Given the description of an element on the screen output the (x, y) to click on. 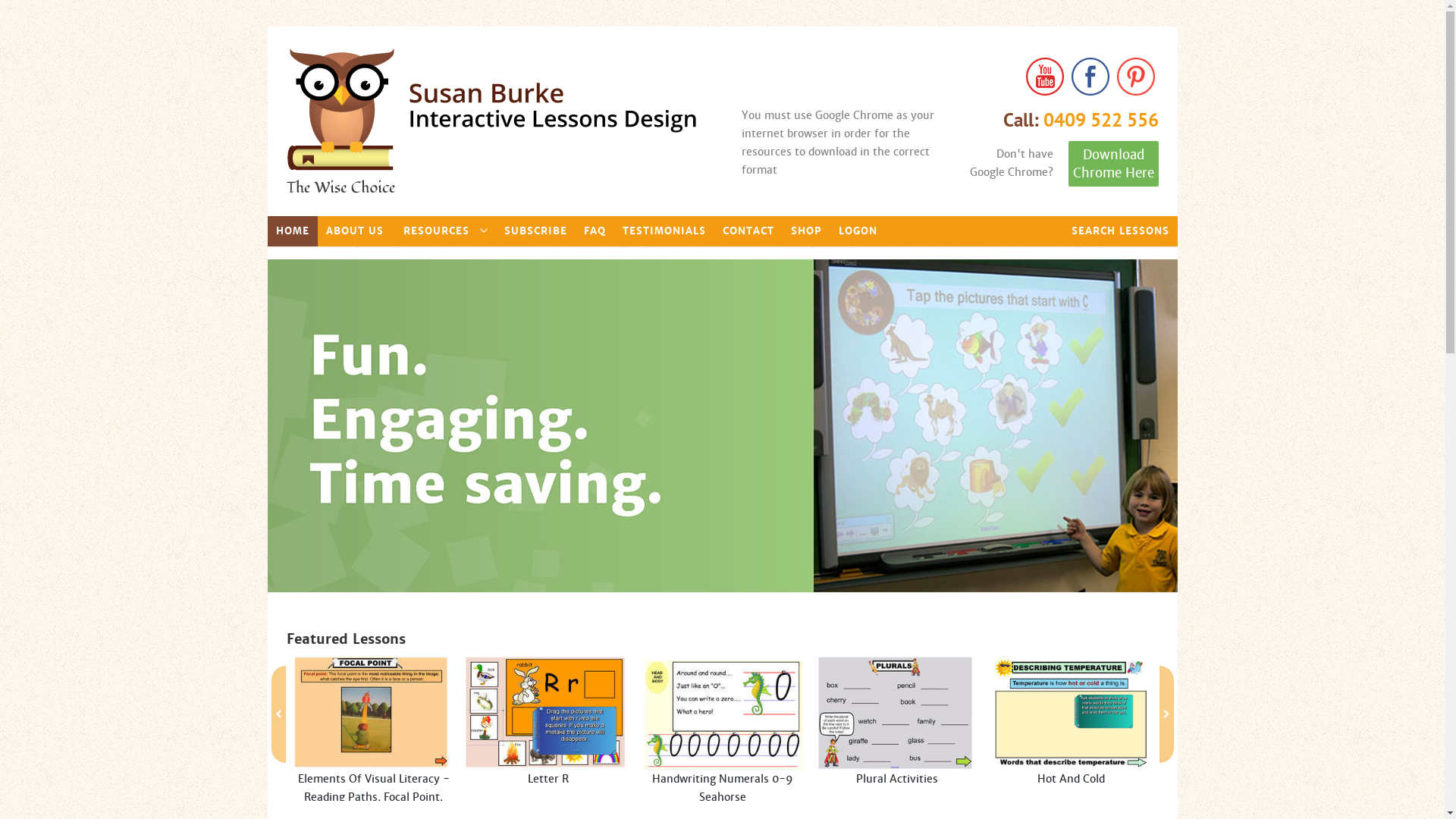
RESOURCES Element type: text (443, 231)
SUBSCRIBE Element type: text (535, 231)
Length - Cm And Mm Element type: text (548, 746)
Introduction To Visual Literacy Element type: text (373, 746)
Download
Chrome Here Element type: text (1112, 163)
Alphabetical Order Element type: text (199, 746)
HOME Element type: text (291, 231)
LOGON Element type: text (856, 231)
Spelling Rule - Ff, Ll And Ss Element type: text (1071, 746)
FAQ Element type: text (593, 231)
SEARCH LESSONS Element type: text (1120, 231)
TESTIMONIALS Element type: text (664, 231)
Spelling Rule - -ch Or -tch Element type: text (722, 746)
CONTACT Element type: text (748, 231)
ABOUT US Element type: text (353, 231)
Time Facts Review Element type: text (896, 746)
SHOP Element type: text (806, 231)
0409 522 556 Element type: text (1100, 119)
